Given the description of an element on the screen output the (x, y) to click on. 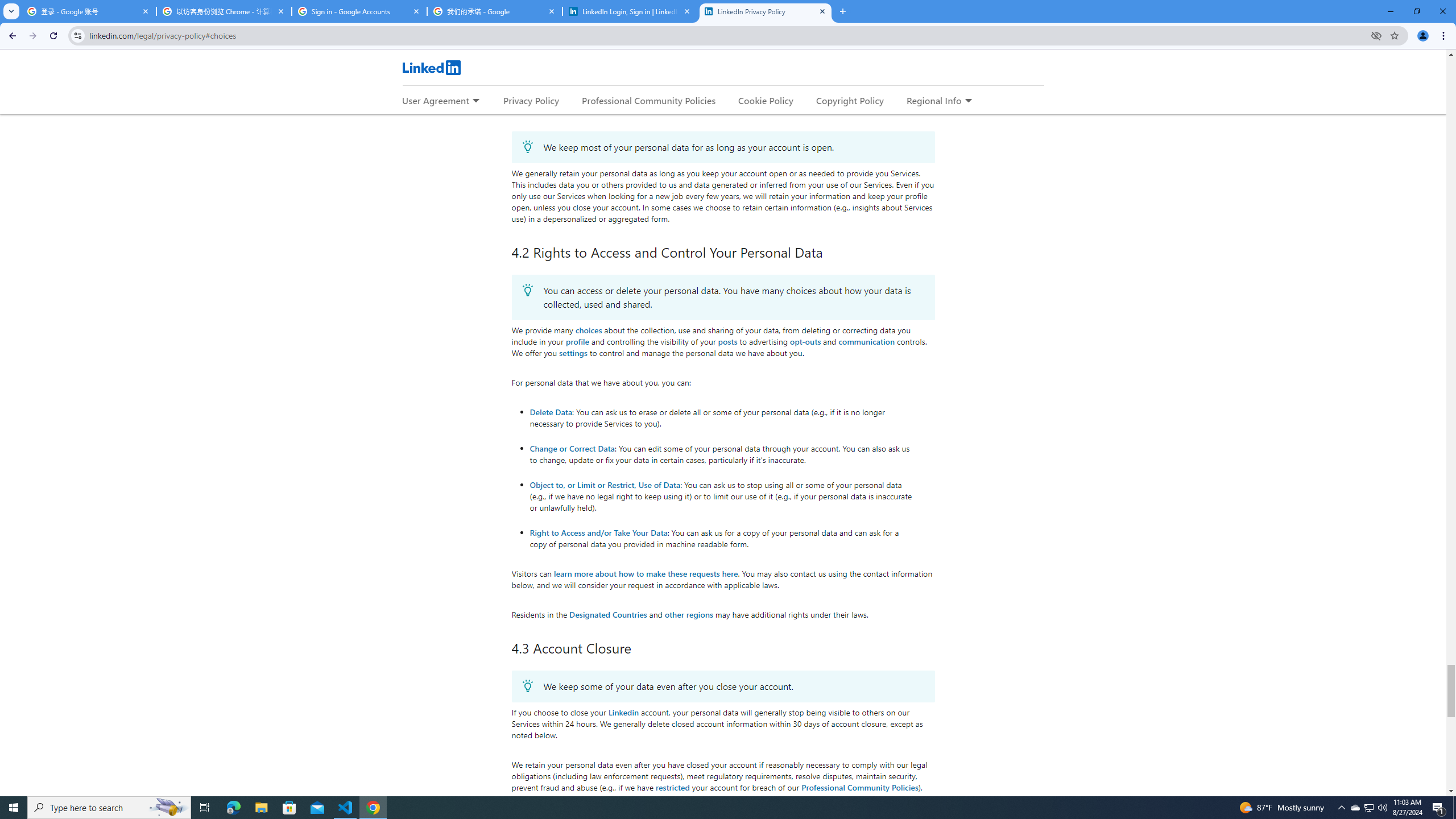
profile (576, 341)
opt-outs (805, 341)
Expand to show more links for User Agreement (475, 101)
Copyright Policy (849, 100)
Change or Correct Data (571, 447)
Object to, or Limit or Restrict, Use of Data (605, 484)
Delete Data (550, 411)
Sign in - Google Accounts (359, 11)
User Agreement (434, 100)
choices (588, 329)
